Given the description of an element on the screen output the (x, y) to click on. 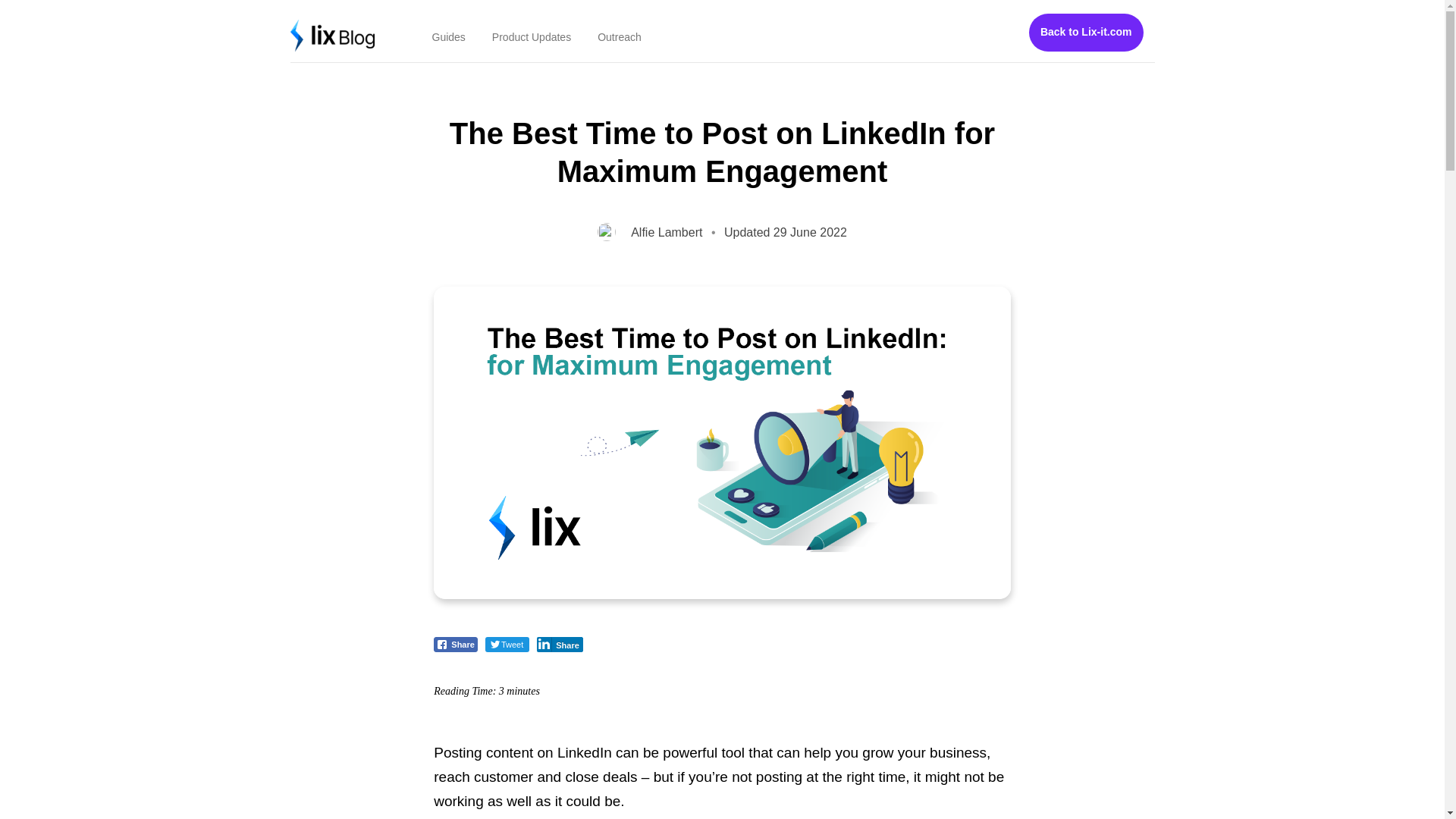
Alfie Lambert (665, 232)
Outreach (614, 37)
Lix Blog (345, 25)
Guides (442, 37)
Share (560, 644)
Back to Lix-it.com (1085, 32)
Product Updates (525, 37)
Share (455, 644)
Tweet (506, 644)
